Given the description of an element on the screen output the (x, y) to click on. 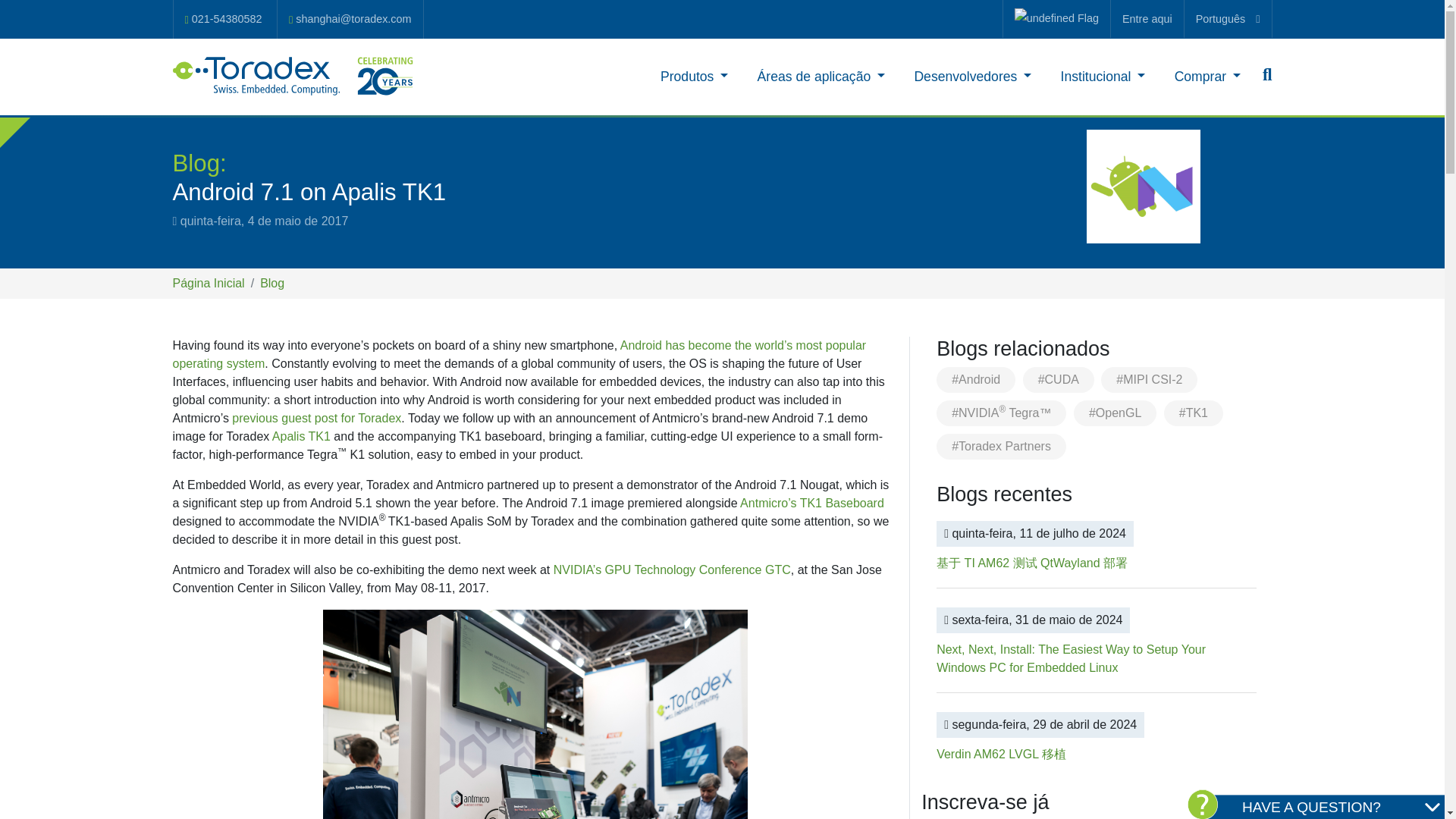
021-54380582 (223, 19)
Android 7.1 Nougat on Toradex Apalis TK1 (535, 714)
Toradex - Global Leader in Arm Embedded Computer Modules (293, 75)
Produtos (694, 76)
Entre aqui (1146, 18)
